Given the description of an element on the screen output the (x, y) to click on. 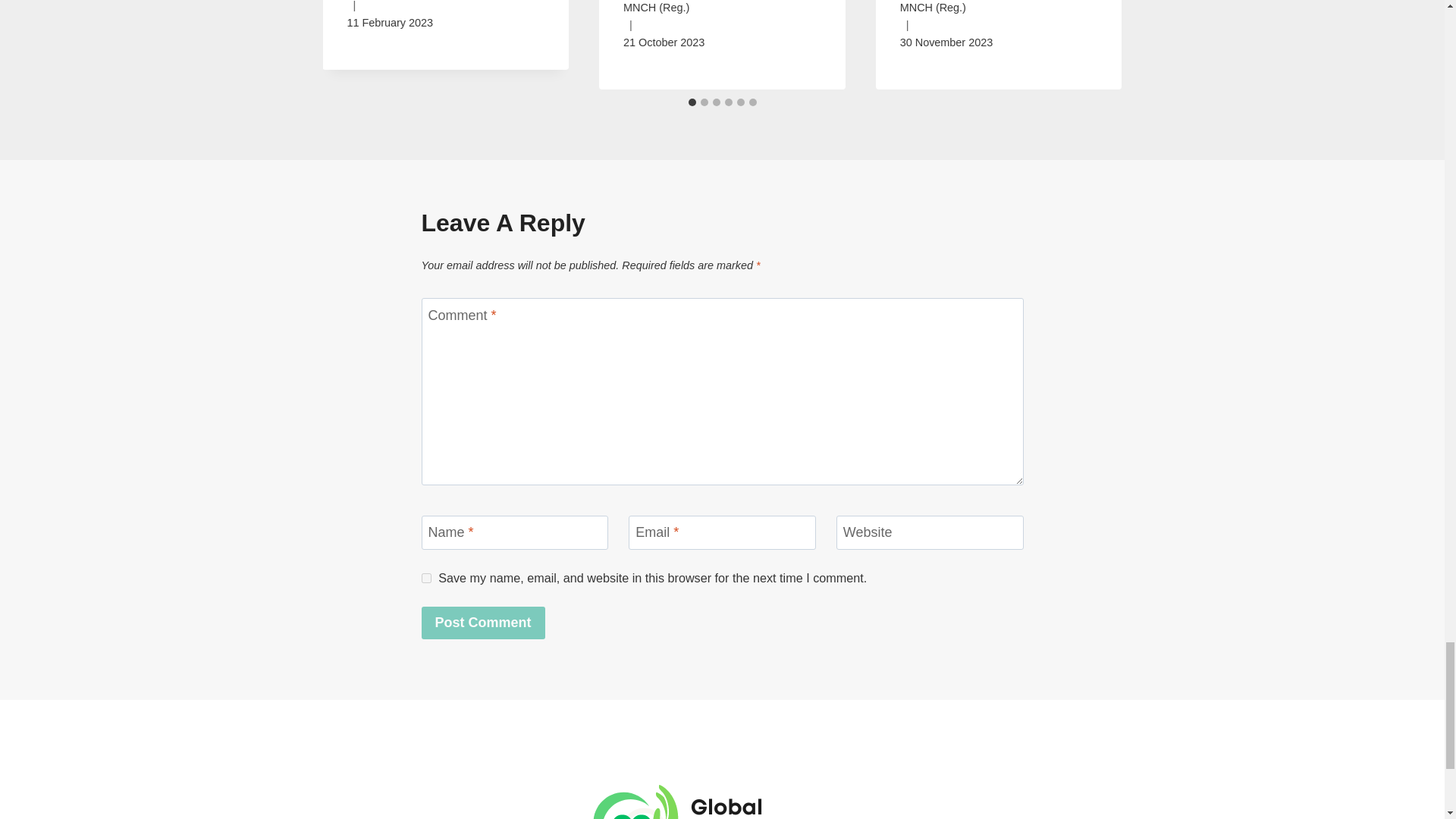
yes (426, 578)
Post Comment (483, 622)
